Given the description of an element on the screen output the (x, y) to click on. 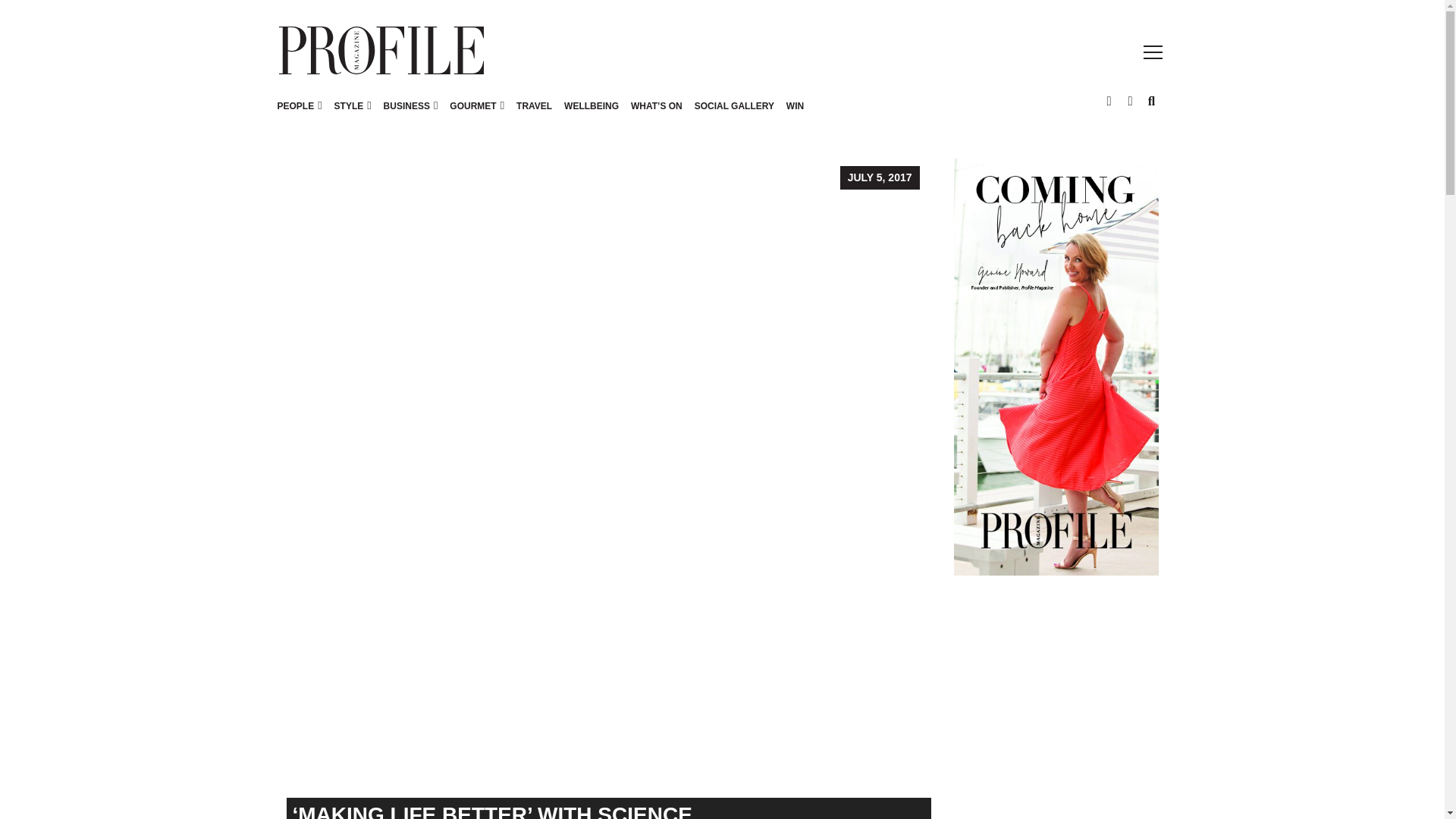
RECIPES (525, 104)
BUSINESS (405, 104)
BUSINESS (410, 113)
FASHION (354, 104)
GOURMET (476, 113)
TRAVEL (534, 113)
STYLE (352, 113)
CULTURE (385, 104)
WIN (794, 113)
PEOPLE (295, 104)
PEOPLE (299, 113)
FAMILY (338, 104)
GOURMET (472, 104)
WELLBEING (591, 113)
HOMES (446, 104)
